Given the description of an element on the screen output the (x, y) to click on. 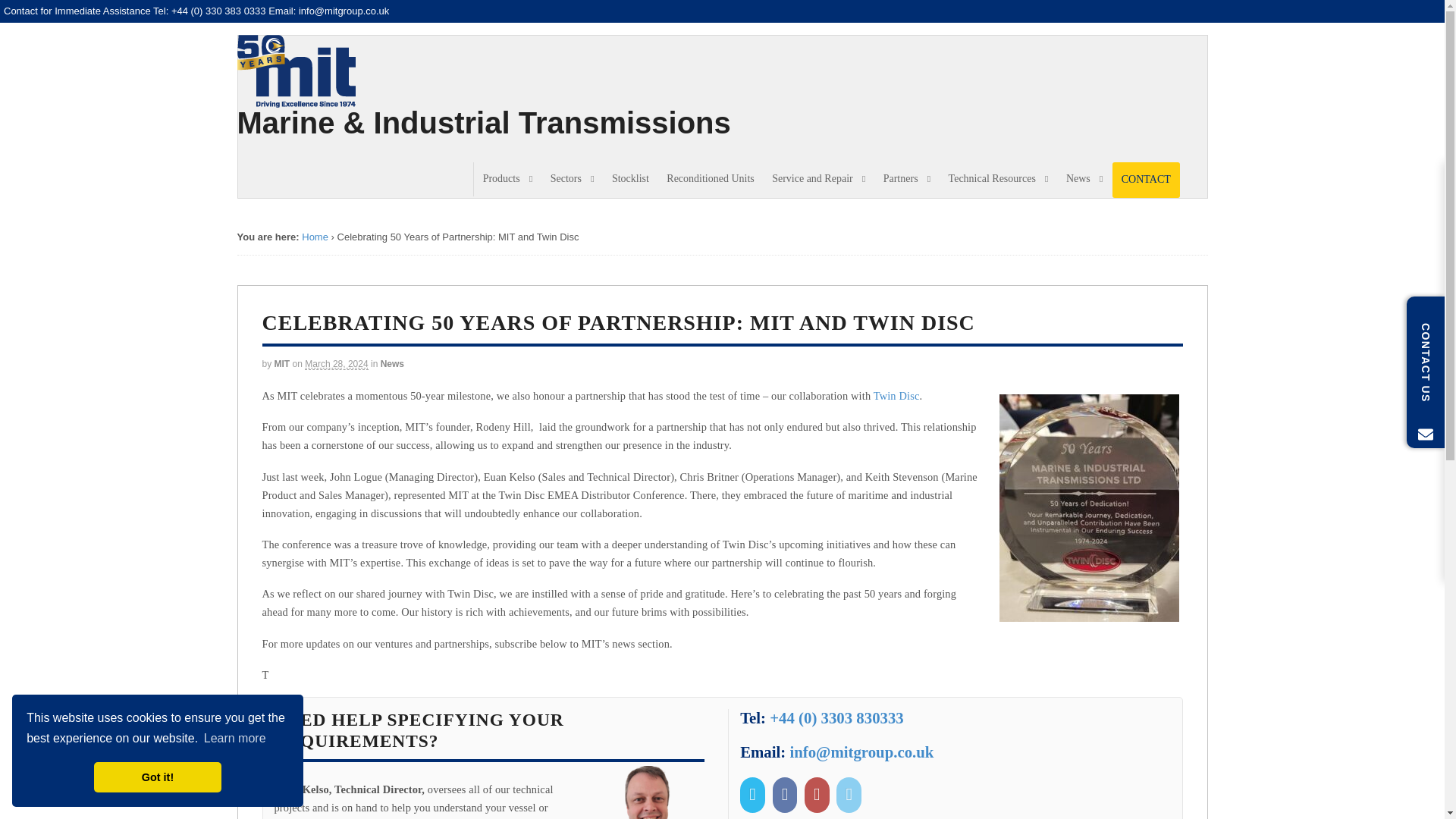
LinkedIn (849, 794)
YouTube (818, 794)
Facebook (786, 794)
Twitter (753, 794)
Posts by MIT (282, 363)
Learn more (234, 738)
View all items in News (392, 363)
Products (507, 179)
Got it! (157, 777)
